Given the description of an element on the screen output the (x, y) to click on. 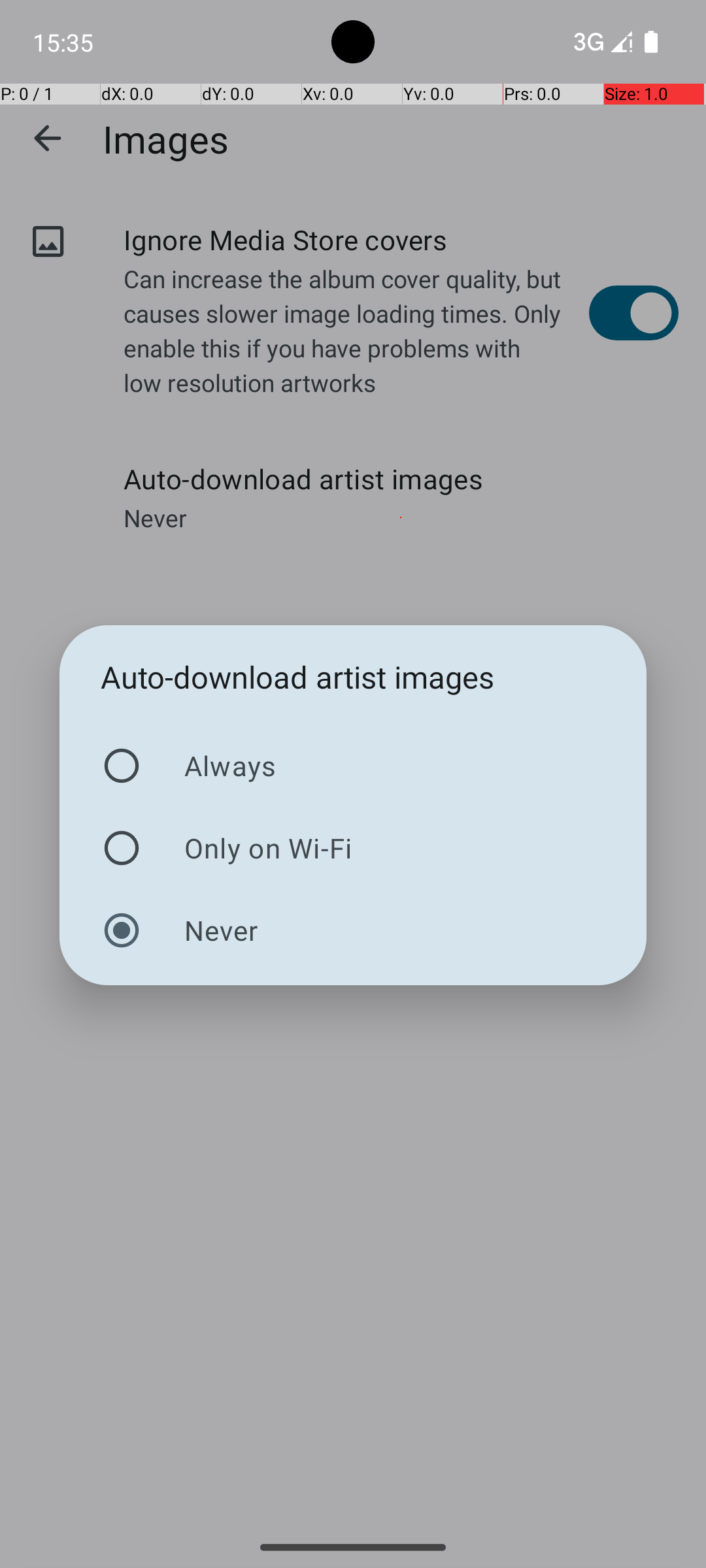
Auto-download artist images Element type: android.widget.TextView (297, 676)
Always Element type: android.widget.CheckedTextView (352, 765)
Only on Wi-Fi Element type: android.widget.CheckedTextView (352, 847)
Never Element type: android.widget.CheckedTextView (352, 930)
